Given the description of an element on the screen output the (x, y) to click on. 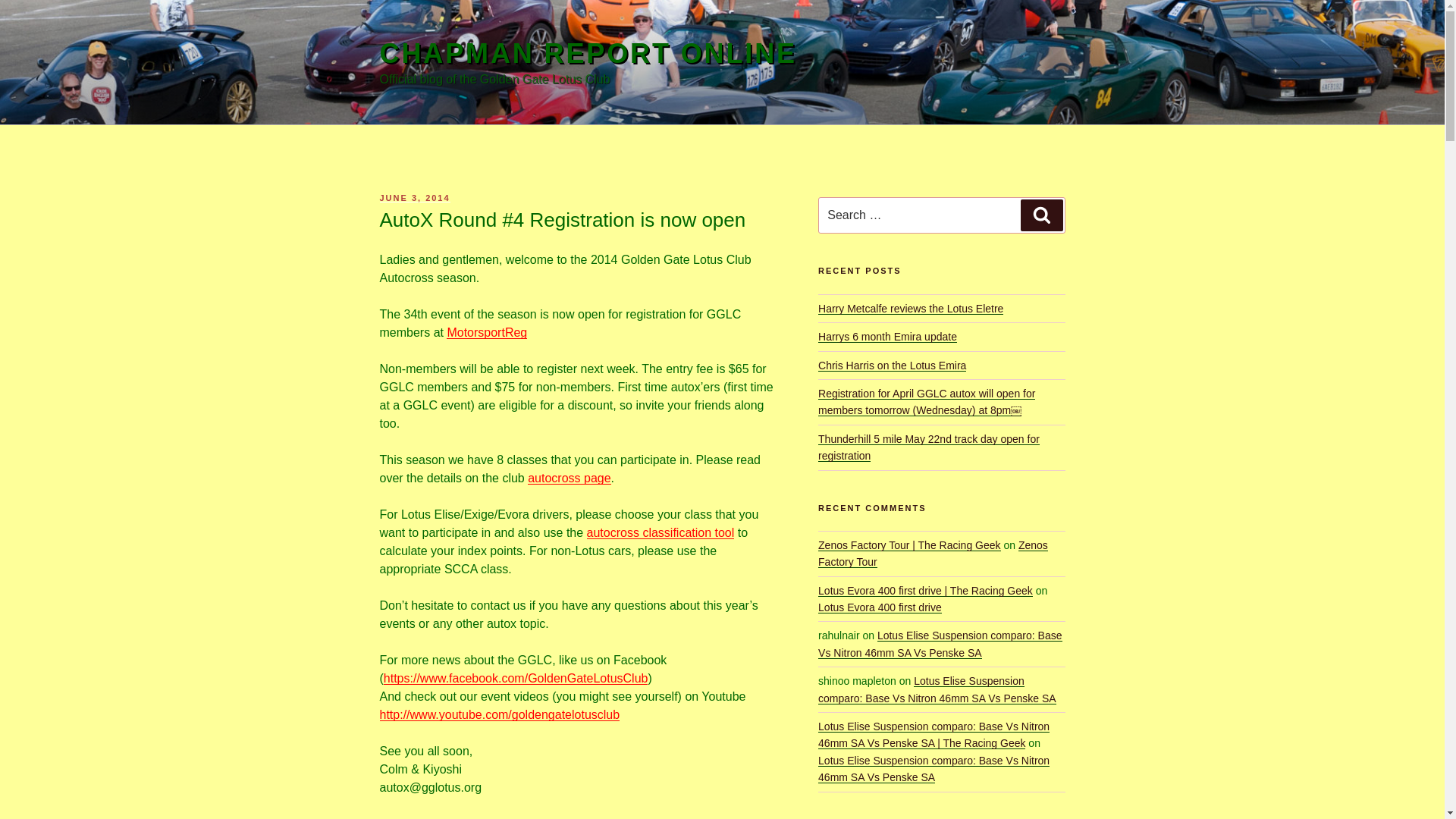
MotorsportReg (486, 332)
Thunderhill 5 mile May 22nd track day open for registration (928, 447)
autocross page (568, 477)
JUNE 3, 2014 (413, 197)
Lotus Evora 400 first drive (880, 607)
CHAPMAN REPORT ONLINE (587, 52)
Search (1041, 214)
